Given the description of an element on the screen output the (x, y) to click on. 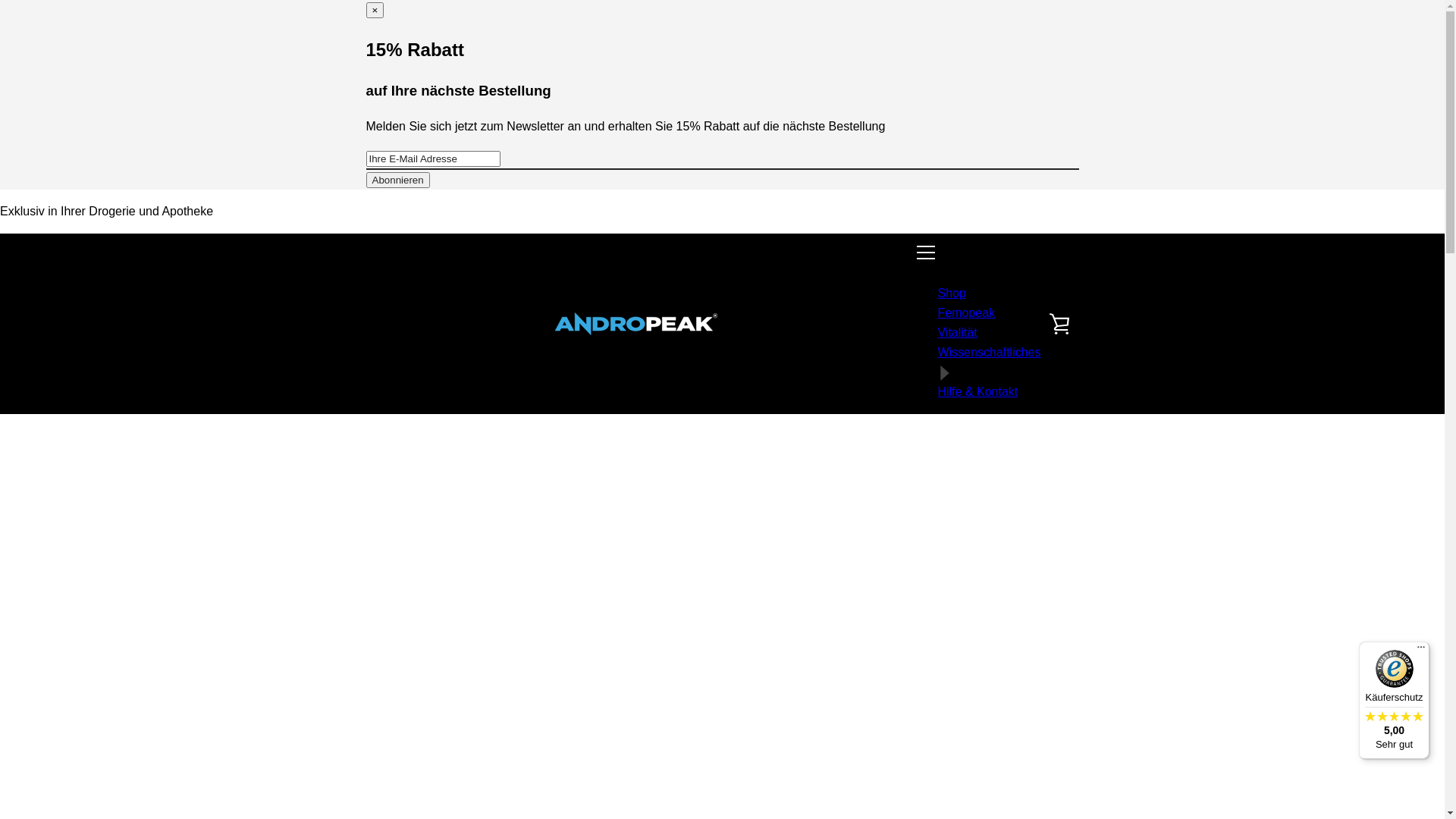
Direkt zum Inhalt Element type: text (0, 189)
Hilfe & Kontakt Element type: text (977, 391)
Abonnieren Element type: text (397, 180)
Wissenschaftliches Element type: text (988, 361)
MENU Element type: text (925, 252)
Shop Element type: text (951, 292)
WARENKORB EINSEHEN Element type: text (1059, 323)
Femopeak Element type: text (965, 312)
